Given the description of an element on the screen output the (x, y) to click on. 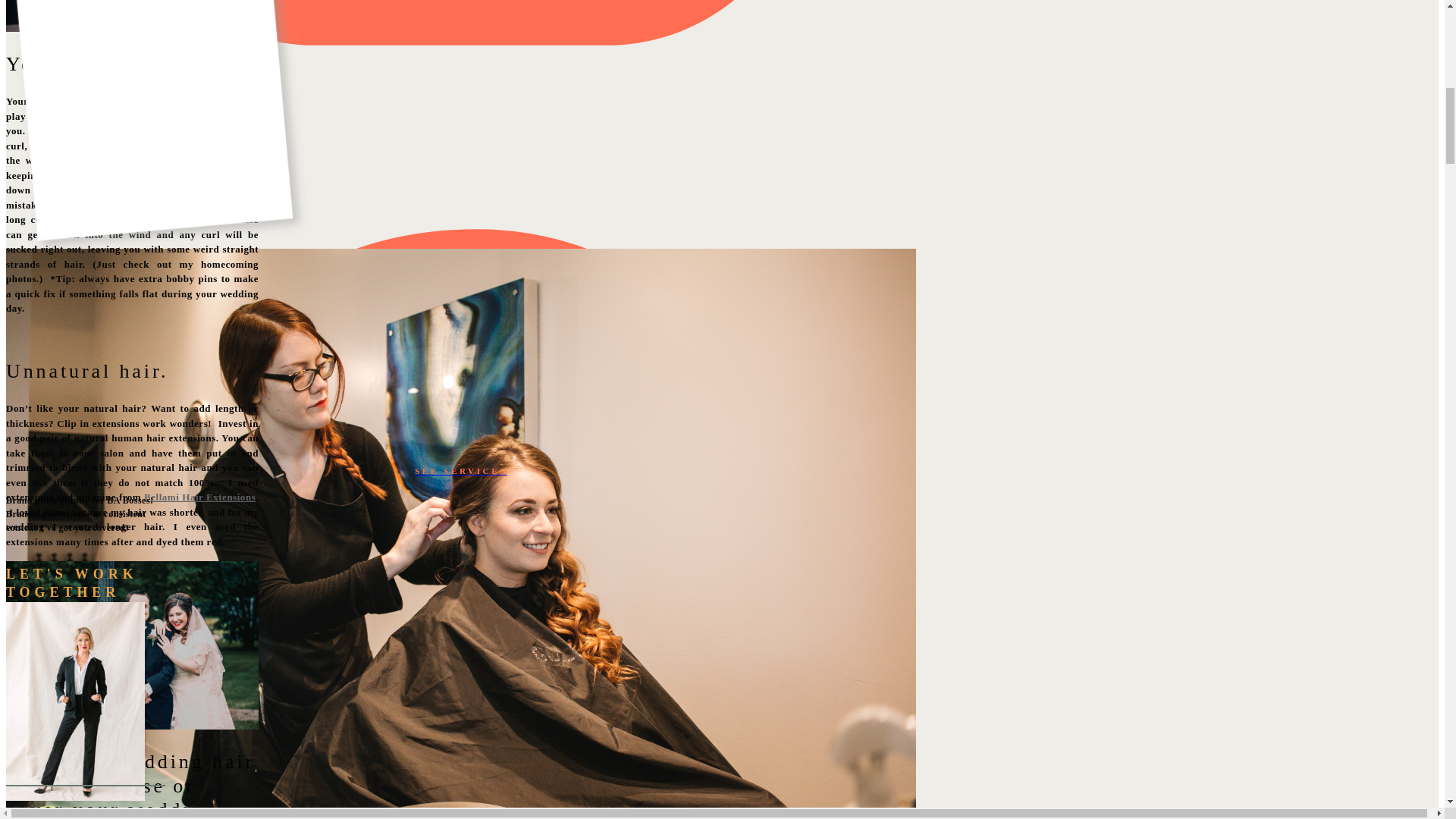
Bellami Hair Extensions (200, 496)
